Given the description of an element on the screen output the (x, y) to click on. 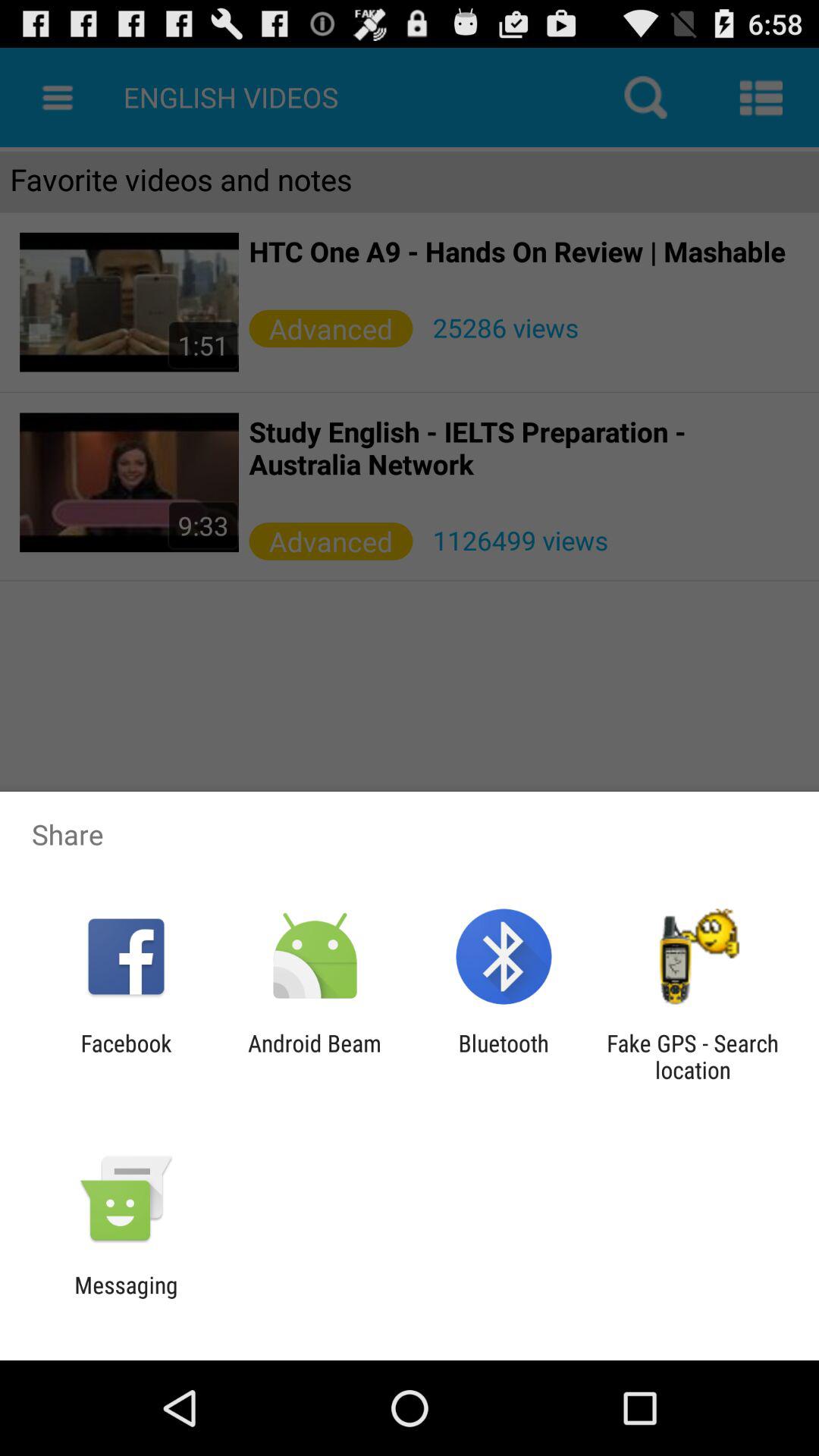
scroll to the facebook (125, 1056)
